Given the description of an element on the screen output the (x, y) to click on. 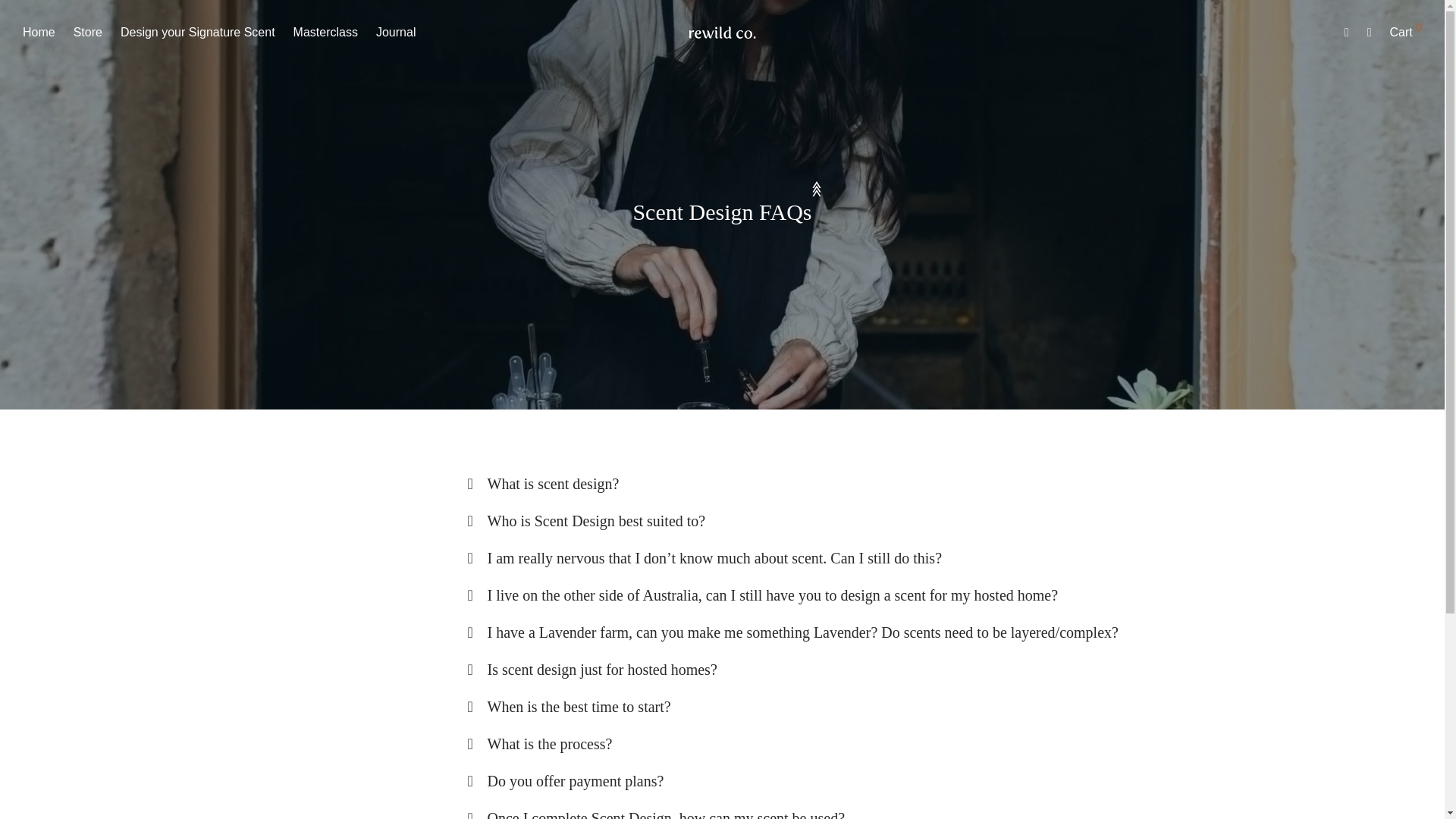
Journal (395, 32)
Cart 0 (1405, 32)
Design your Signature Scent (197, 32)
Store (88, 32)
Home (38, 32)
Masterclass (324, 32)
